Given the description of an element on the screen output the (x, y) to click on. 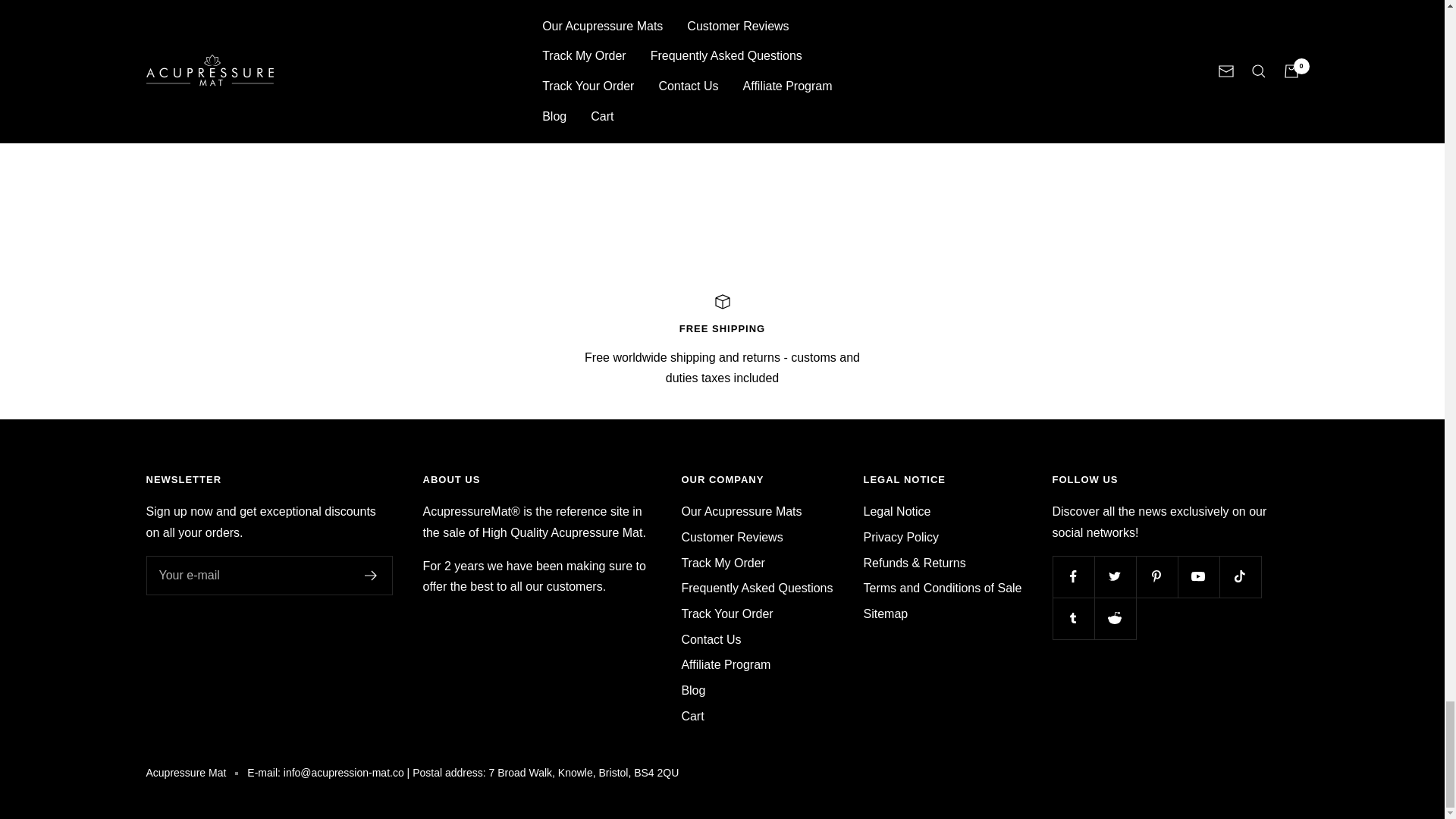
Register (370, 575)
